Given the description of an element on the screen output the (x, y) to click on. 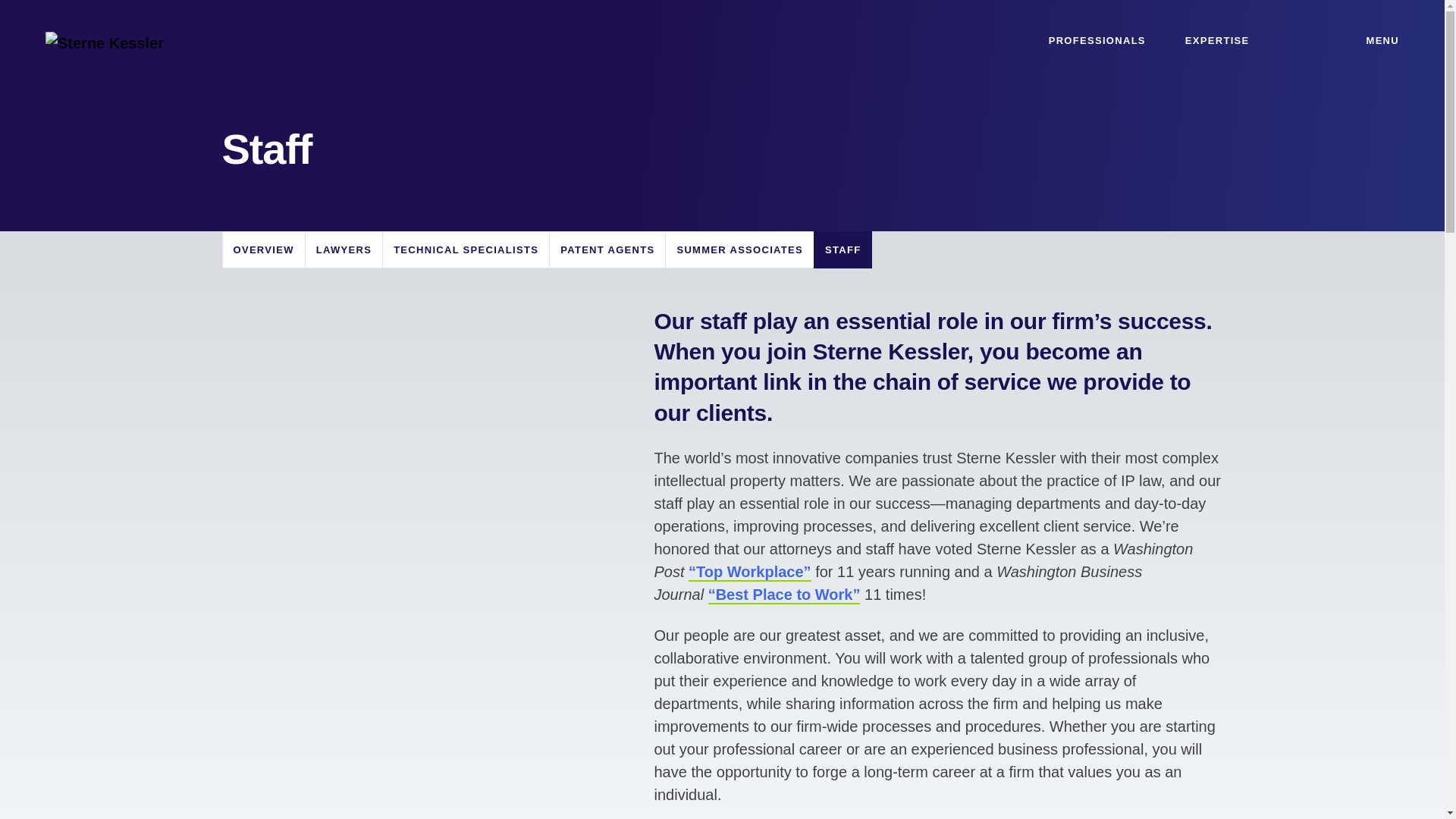
Sterne Kessler (104, 40)
PROFESSIONALS (1096, 40)
MENU (1371, 40)
